Given the description of an element on the screen output the (x, y) to click on. 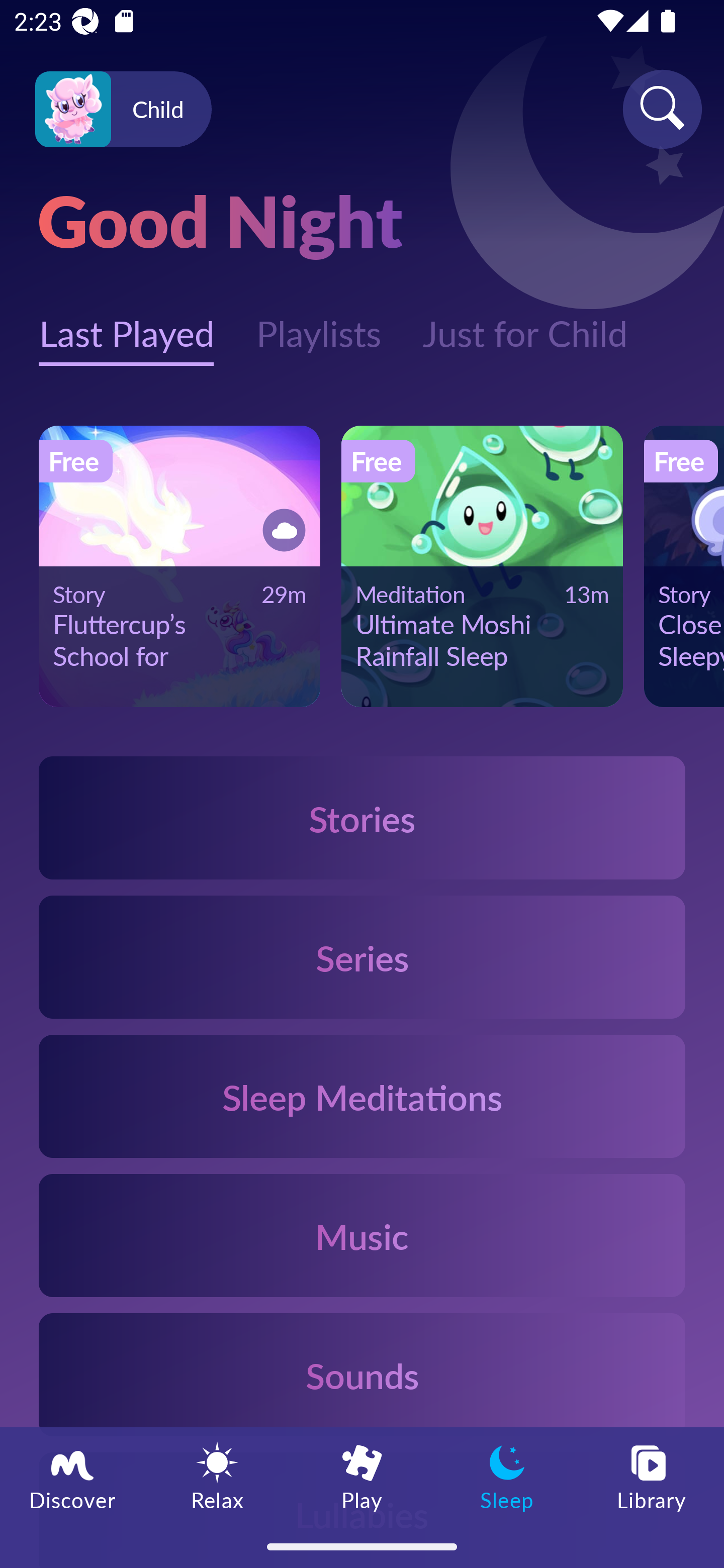
Profile icon Child (123, 109)
Playlists (317, 322)
Just for Child (524, 322)
Button (280, 529)
Stories (361, 817)
Series (361, 957)
Sleep Meditations (361, 1096)
Music (361, 1234)
Sounds (361, 1374)
Discover (72, 1475)
Relax (216, 1475)
Play (361, 1475)
Library (651, 1475)
